Given the description of an element on the screen output the (x, y) to click on. 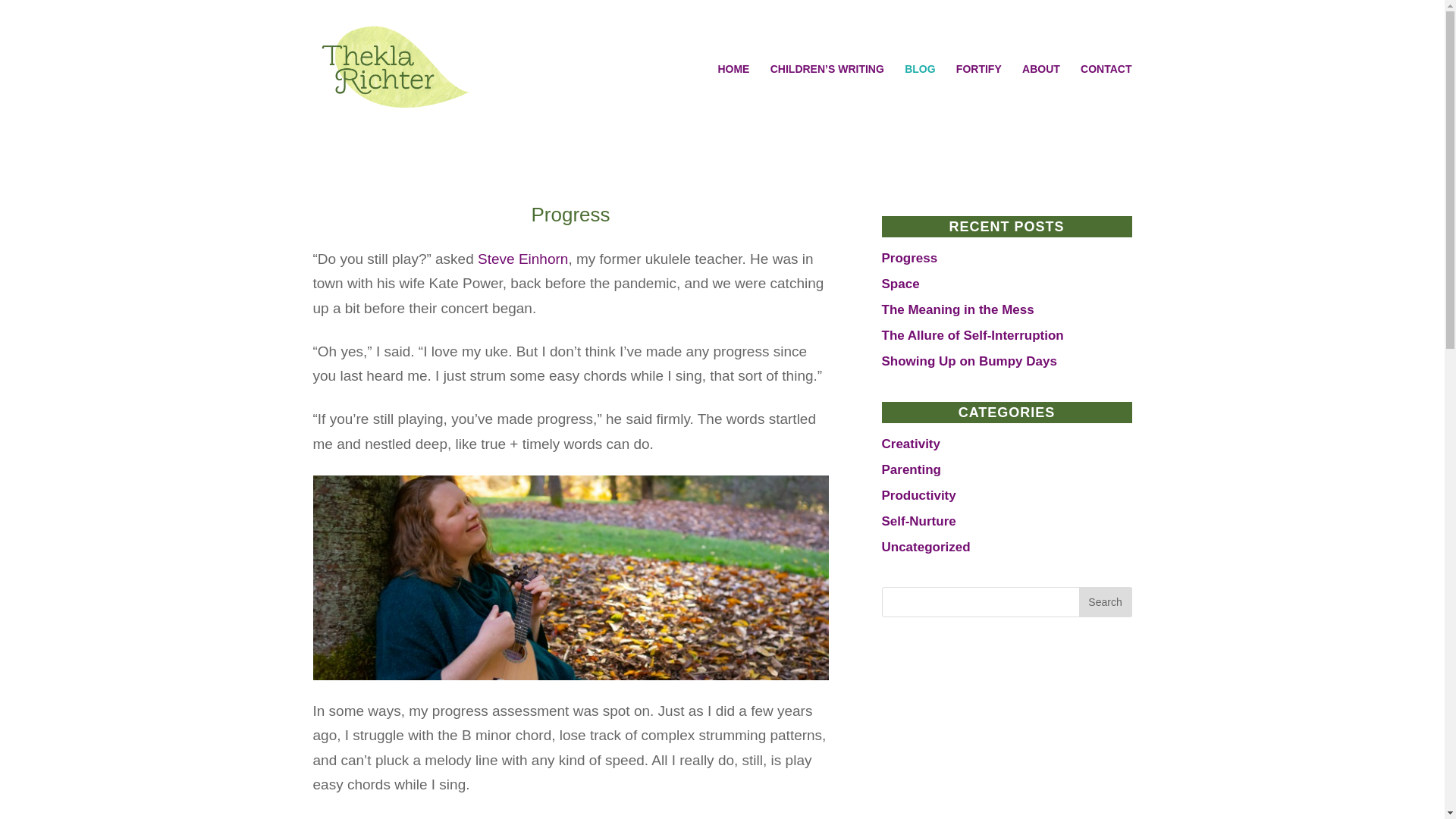
CONTACT (1105, 90)
Showing Up on Bumpy Days (968, 360)
Progress (908, 257)
Creativity (909, 443)
Search (1104, 602)
Self-Nurture (917, 521)
Steve Einhorn (522, 258)
Space (899, 283)
Search (1104, 602)
The Meaning in the Mess (956, 309)
Parenting (910, 469)
Uncategorized (924, 546)
Productivity (917, 495)
Progress (570, 214)
The Allure of Self-Interruption (971, 335)
